Given the description of an element on the screen output the (x, y) to click on. 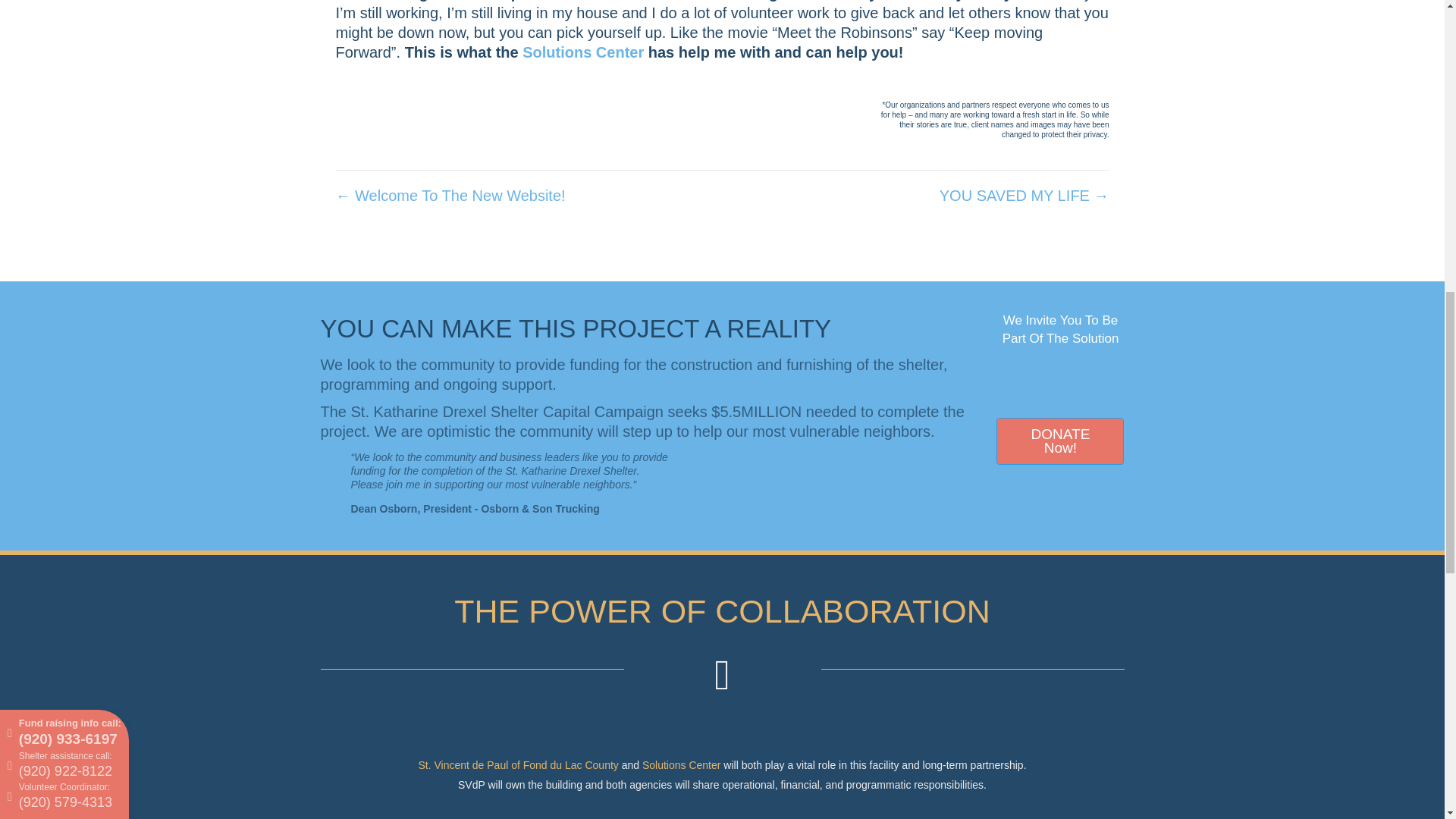
Solutions Center (659, 0)
heeart-hands-fundraising-graphic-89px (1060, 379)
st-vincent-de-paul-solutions-center-244px (720, 726)
Solutions Center (582, 52)
